Given the description of an element on the screen output the (x, y) to click on. 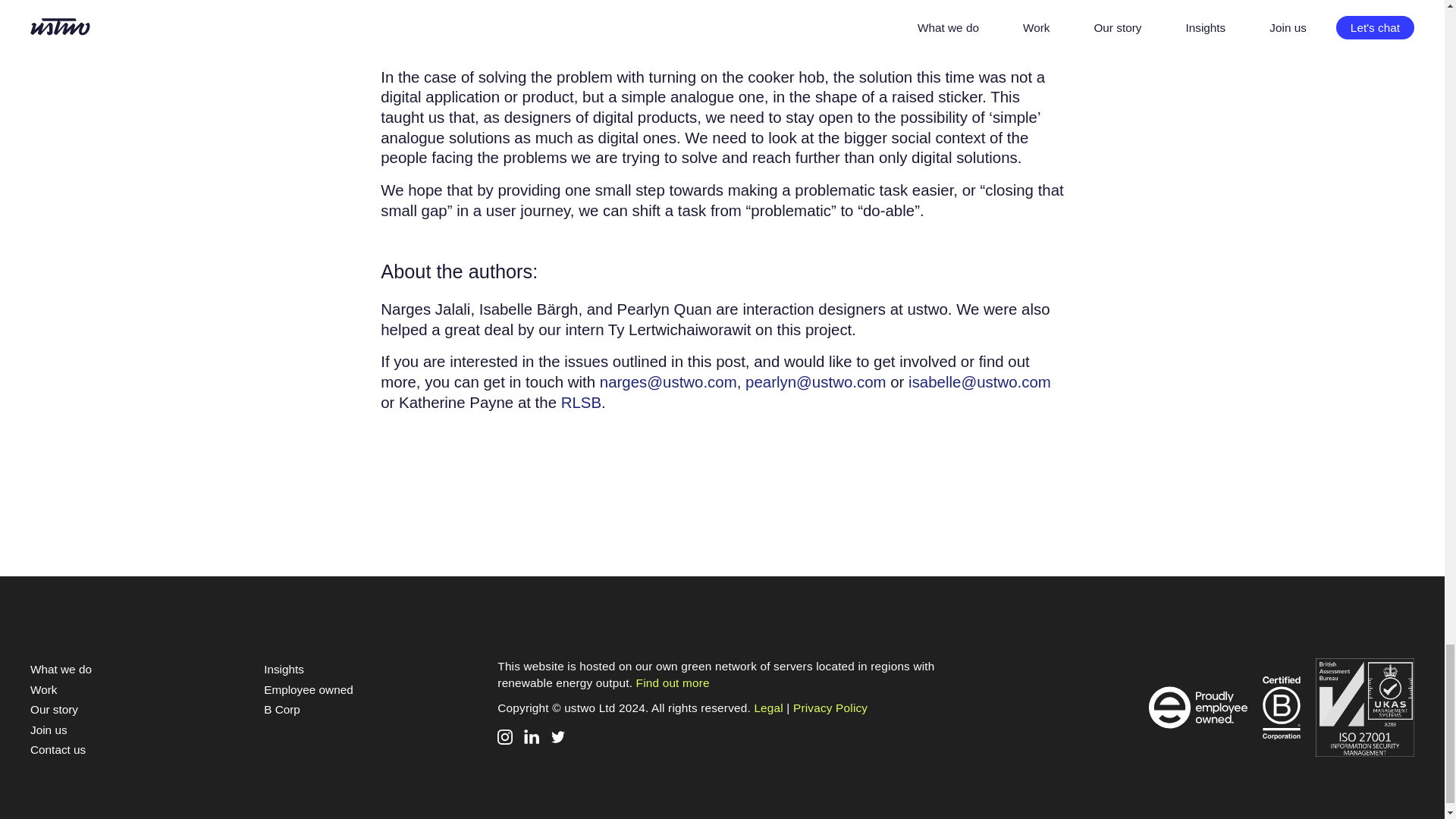
What we do (60, 668)
Work (43, 689)
Join us (48, 729)
RLSB (580, 402)
Insights (283, 668)
Linked In (531, 736)
Our story (54, 708)
Legal (768, 707)
Find out more (673, 682)
Employee owned (308, 689)
Privacy Policy (830, 707)
Contact us (57, 748)
Instagram (504, 736)
B Corp (281, 708)
